Given the description of an element on the screen output the (x, y) to click on. 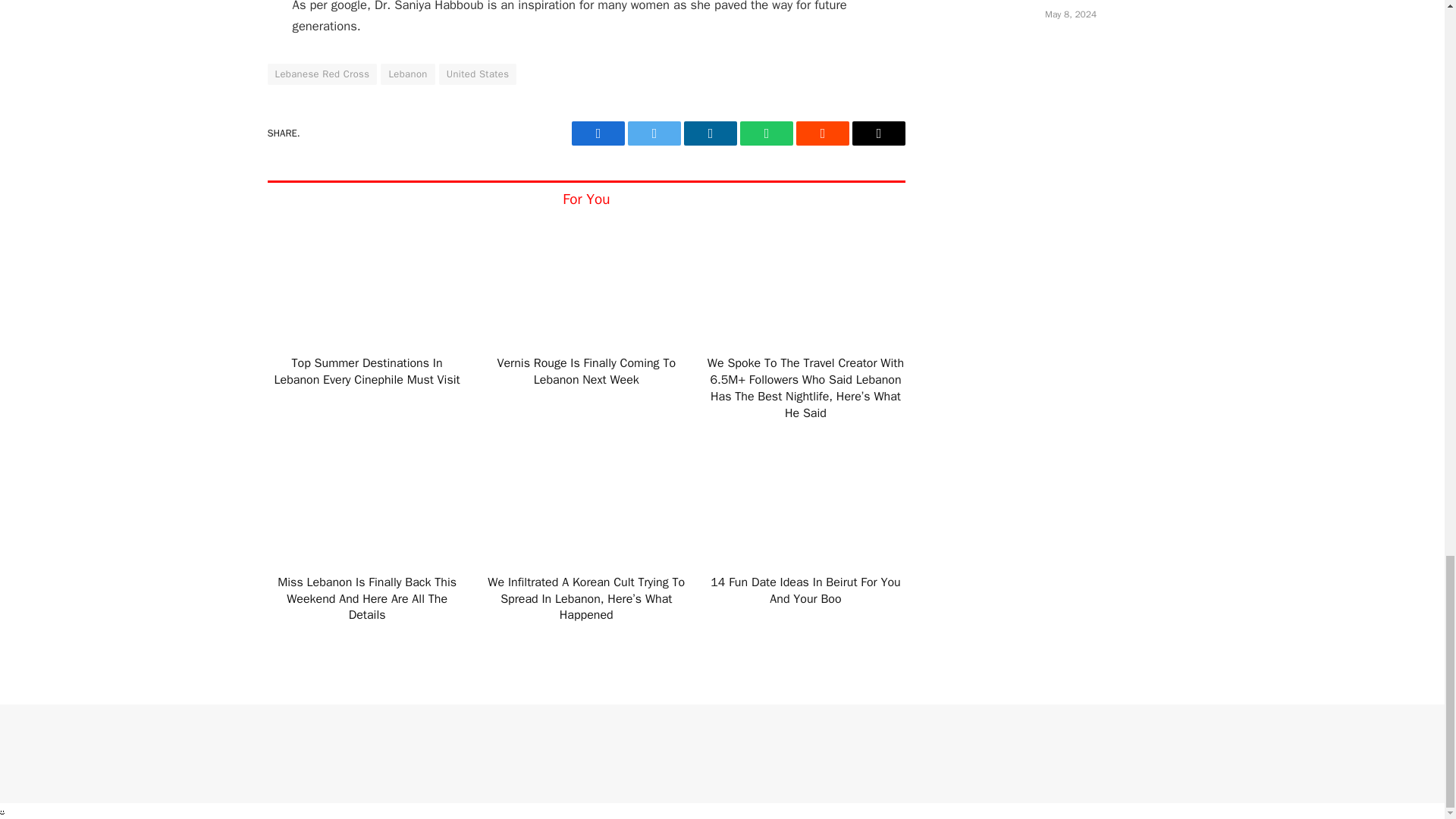
Lebanese Red Cross (321, 74)
Lebanon (406, 74)
Facebook (598, 133)
LinkedIn (710, 133)
Share on Facebook (598, 133)
Share on LinkedIn (710, 133)
Twitter (654, 133)
United States (477, 74)
Share on WhatsApp (766, 133)
